Given the description of an element on the screen output the (x, y) to click on. 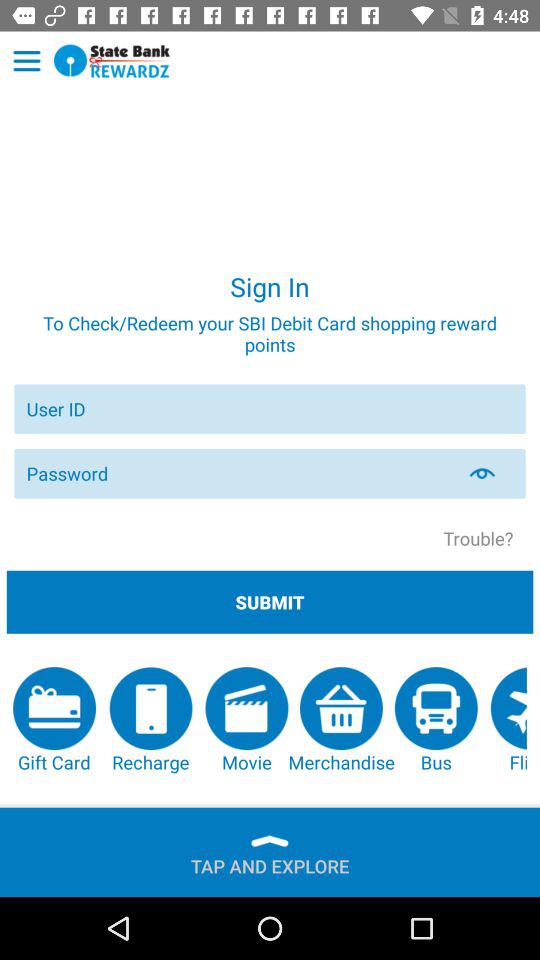
turn off item below submit item (508, 720)
